Given the description of an element on the screen output the (x, y) to click on. 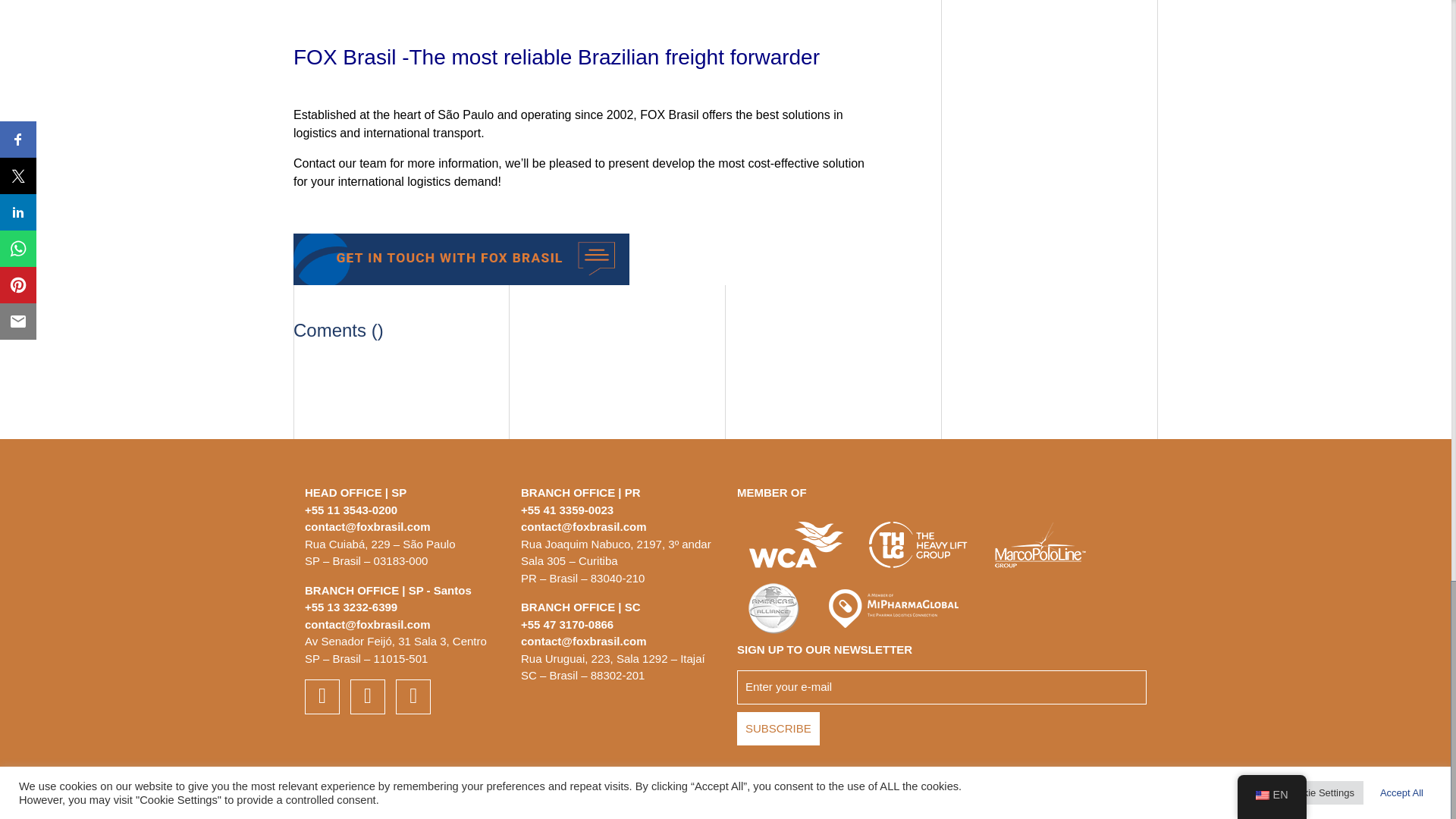
SUBSCRIBE (777, 728)
